Given the description of an element on the screen output the (x, y) to click on. 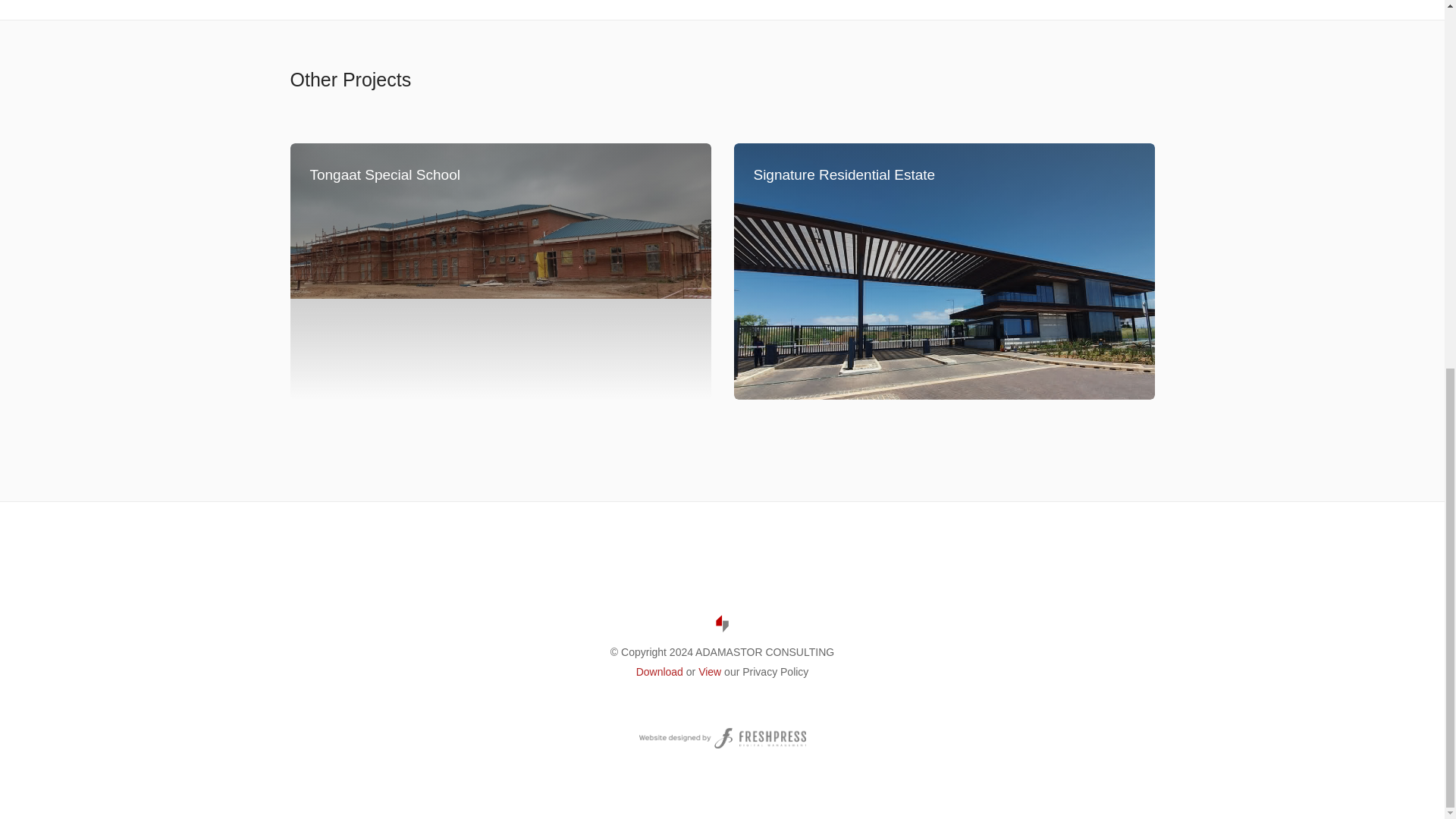
Tongaat Special School (499, 271)
Signature Residential Estate (943, 271)
Download (659, 671)
View (709, 671)
